Given the description of an element on the screen output the (x, y) to click on. 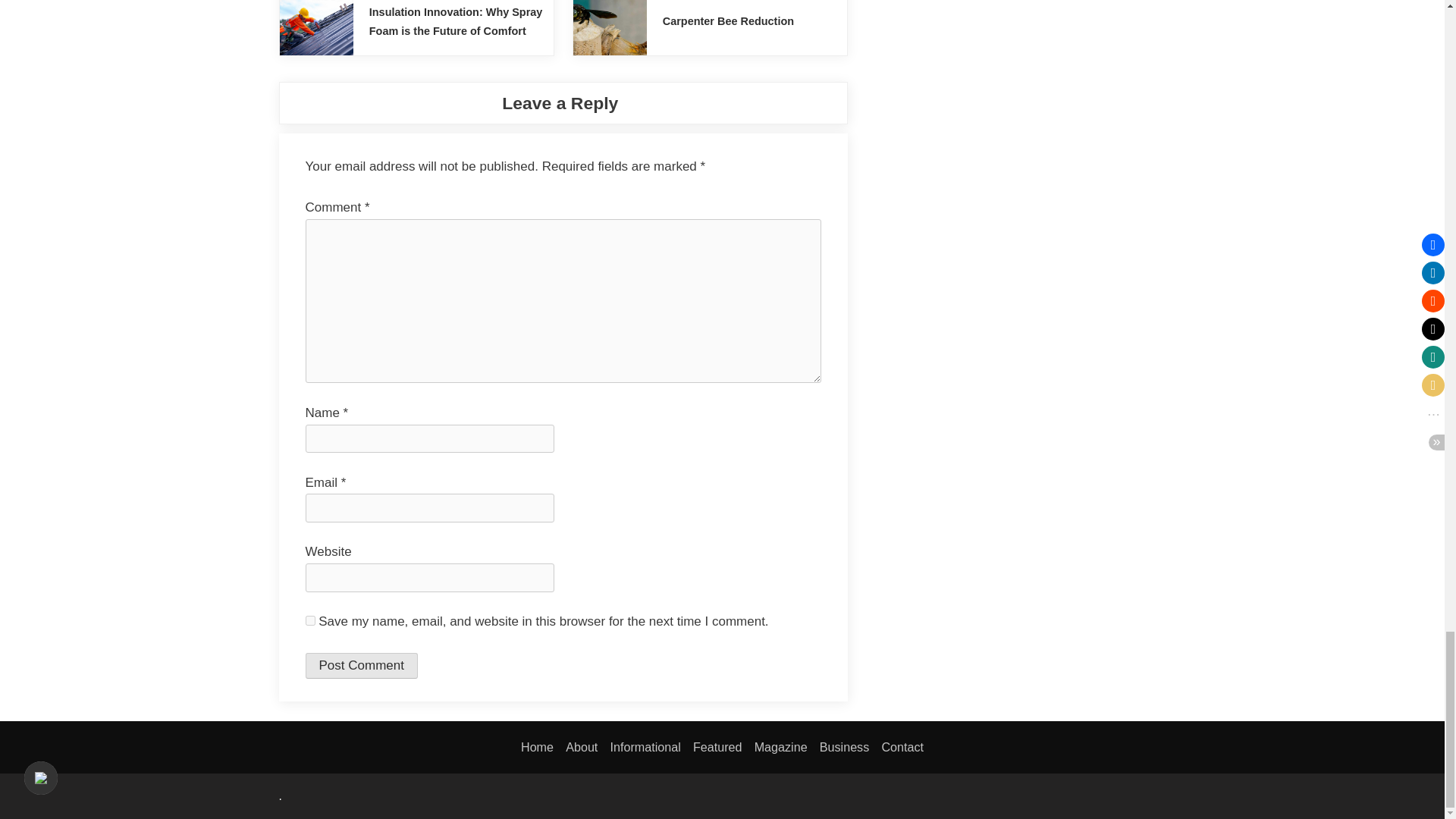
Post Comment (360, 665)
Carpenter Bee Reduction (727, 21)
yes (309, 620)
Post Comment (360, 665)
